Given the description of an element on the screen output the (x, y) to click on. 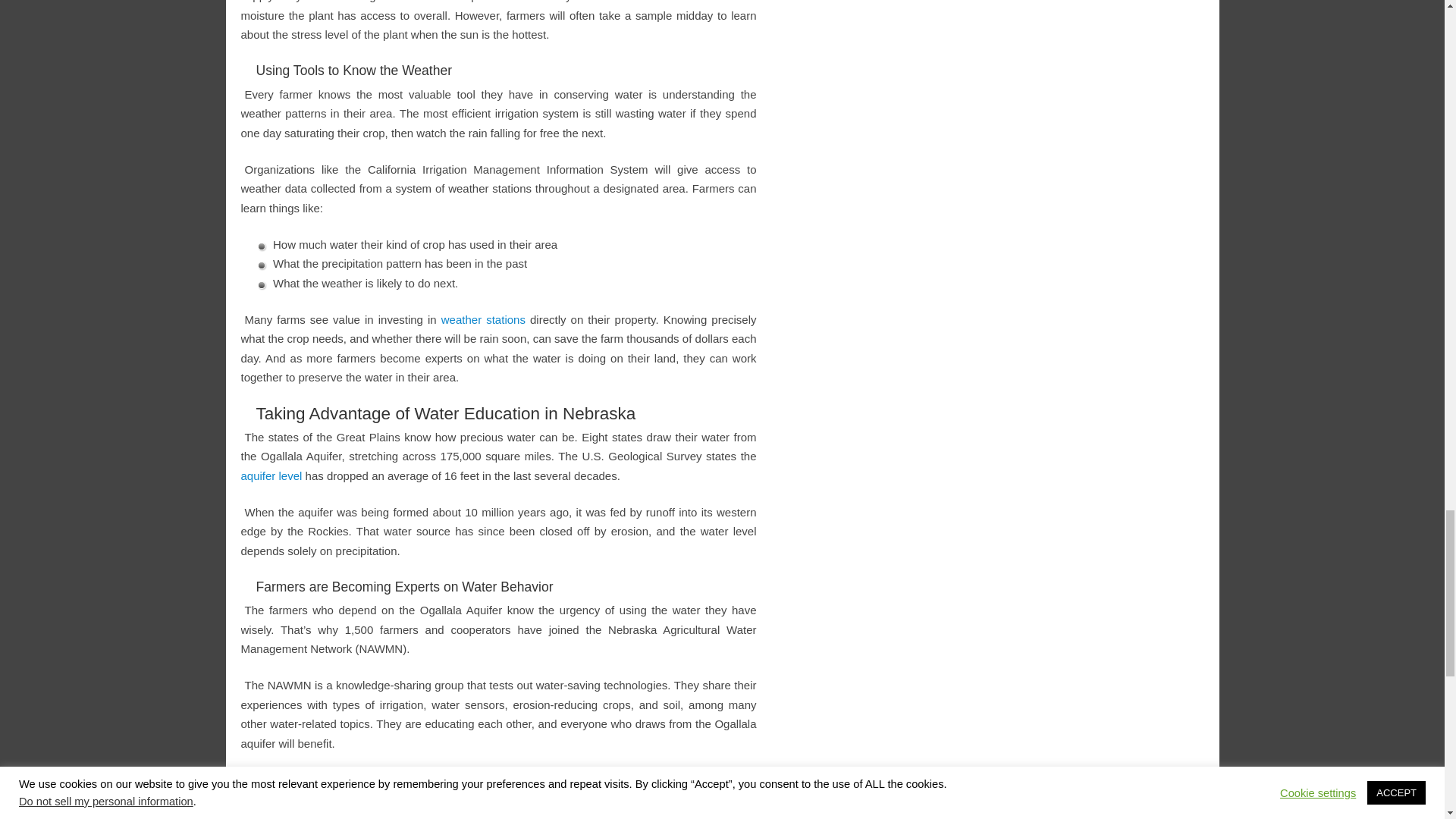
weather stations (483, 318)
pivot irrigation (439, 779)
aquifer level (271, 475)
